Given the description of an element on the screen output the (x, y) to click on. 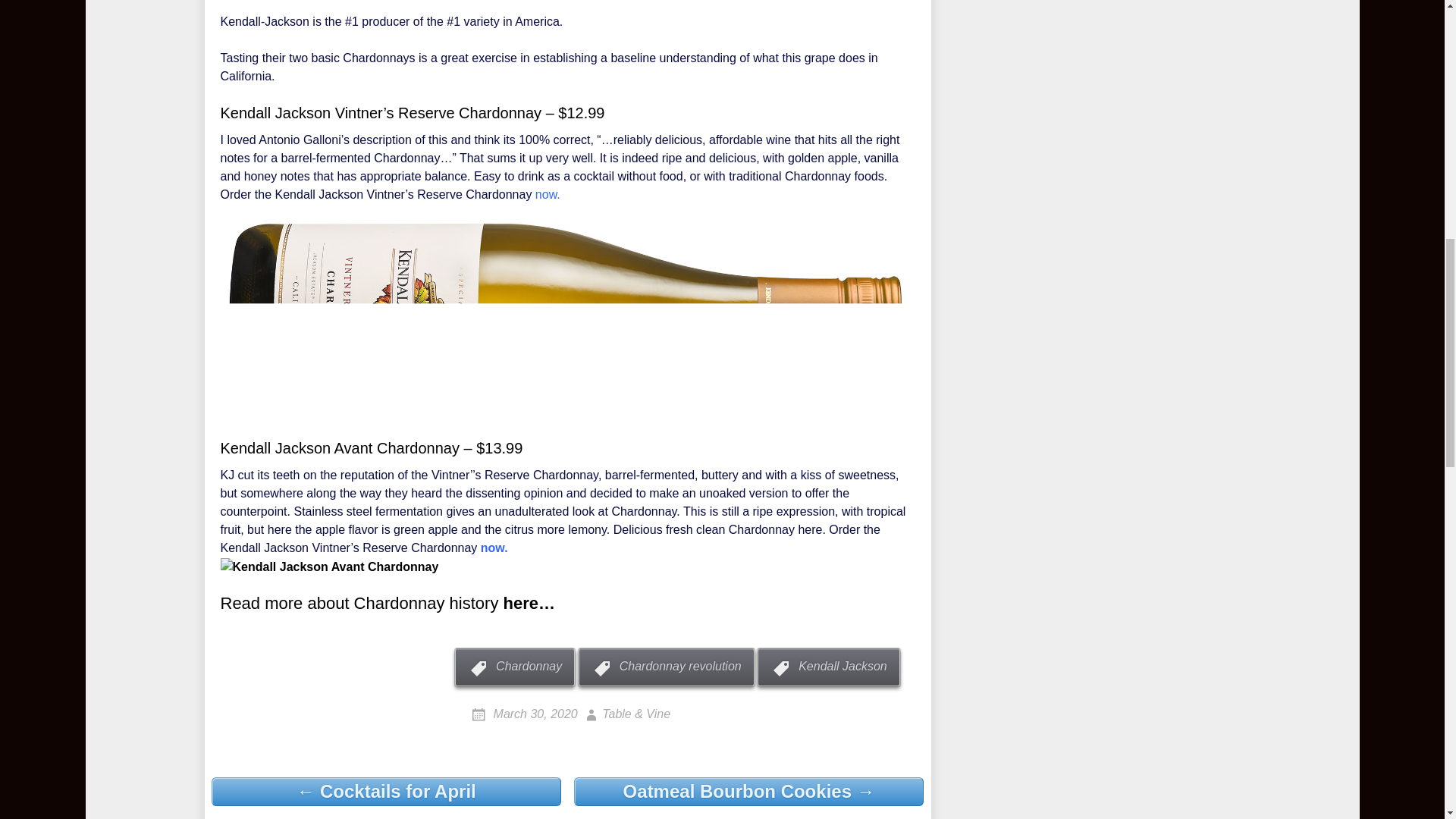
now. (547, 194)
Chardonnay (514, 667)
now. (494, 547)
Kendall Jackson (828, 667)
March 30, 2020 (524, 713)
March 30, 2020 (524, 713)
Chardonnay revolution (666, 667)
